Given the description of an element on the screen output the (x, y) to click on. 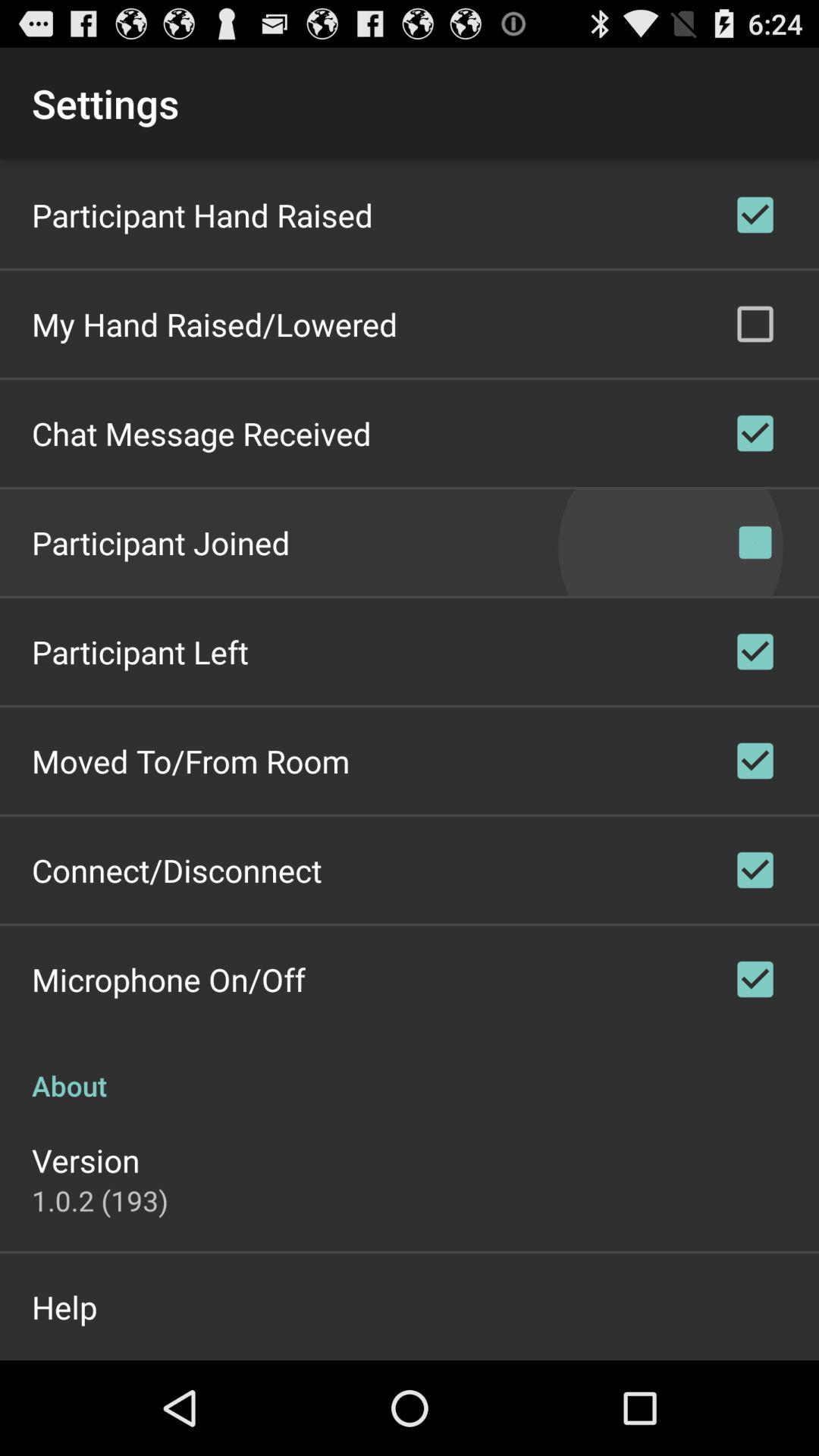
jump until the microphone on/off icon (168, 979)
